Given the description of an element on the screen output the (x, y) to click on. 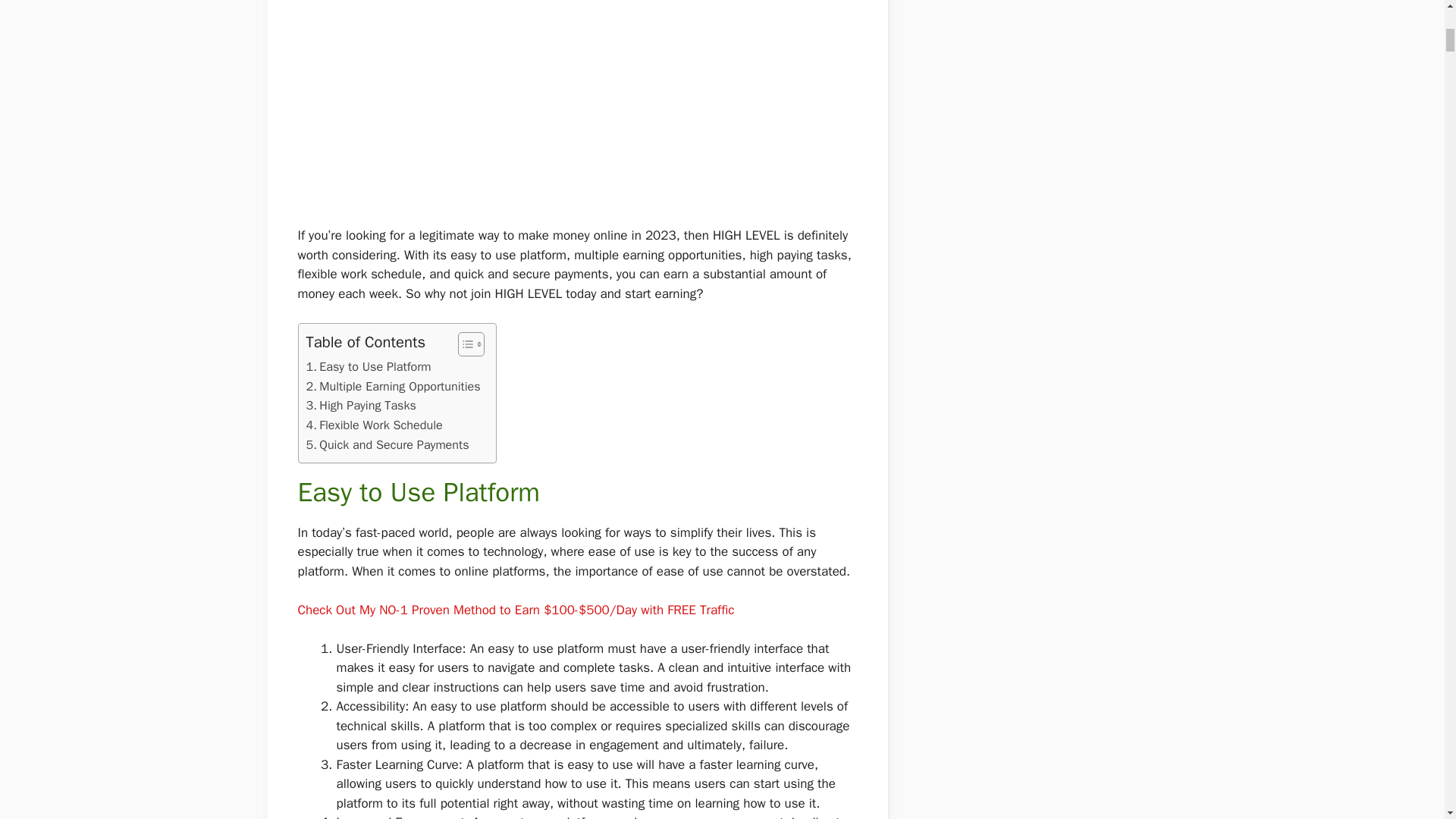
Quick and Secure Payments (386, 444)
Easy to Use Platform (367, 366)
Flexible Work Schedule (373, 424)
Multiple Earning Opportunities (392, 386)
Multiple Earning Opportunities (392, 386)
Easy to Use Platform (367, 366)
High Paying Tasks (360, 405)
High Paying Tasks (360, 405)
Flexible Work Schedule (373, 424)
Quick and Secure Payments (386, 444)
